Given the description of an element on the screen output the (x, y) to click on. 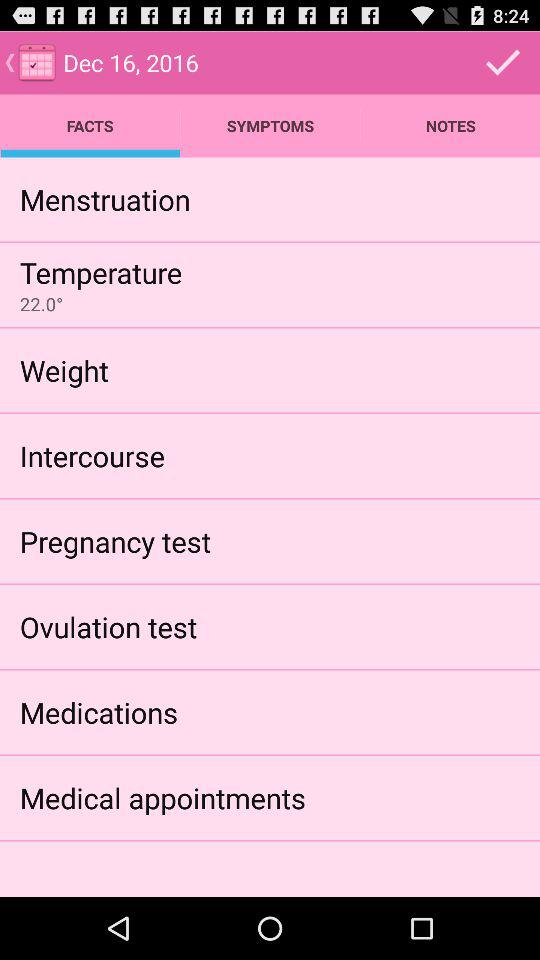
launch the ovulation test icon (108, 626)
